Given the description of an element on the screen output the (x, y) to click on. 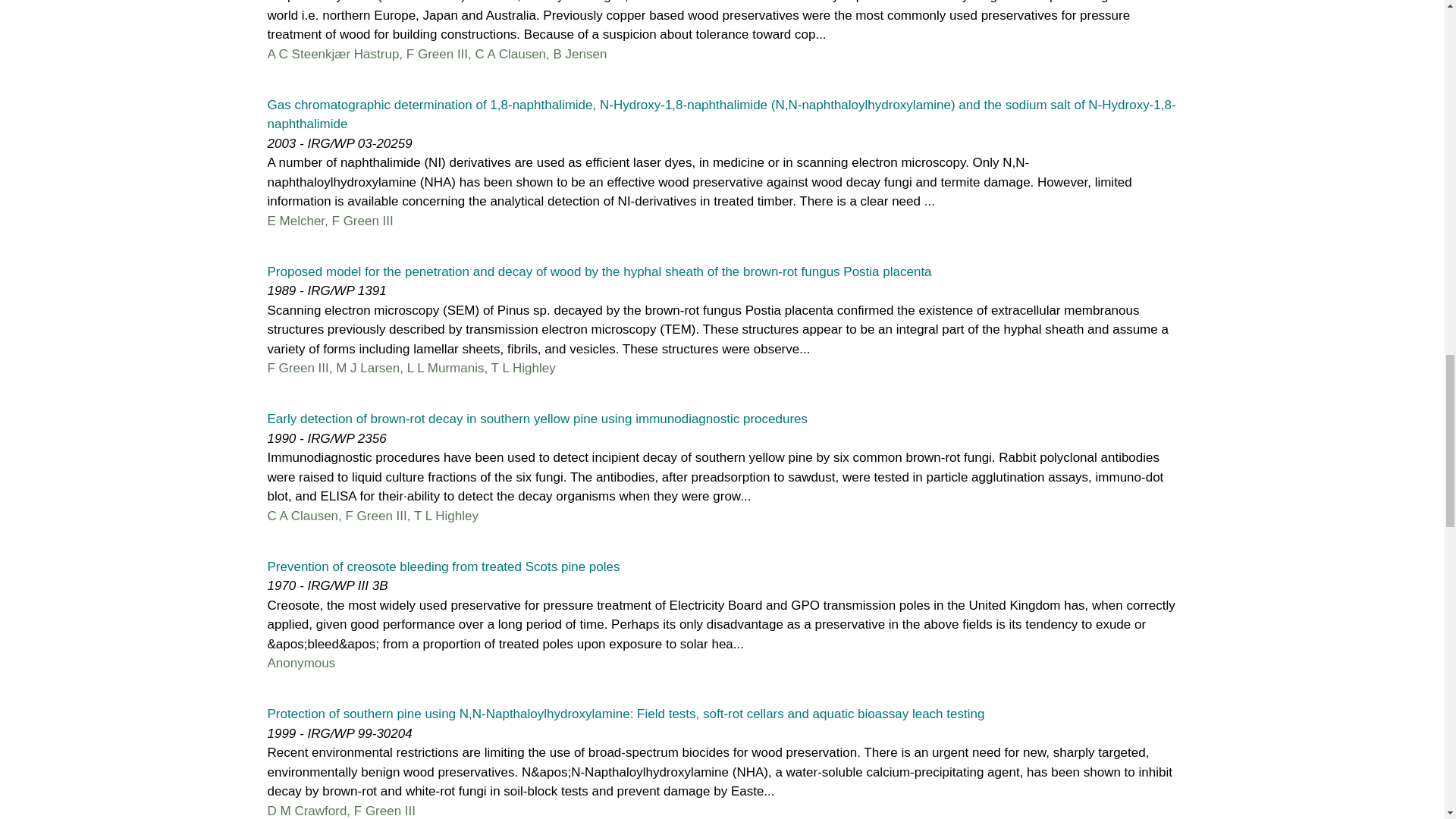
Click for more information about document. (625, 713)
Click for more information about document. (720, 114)
Click for more information about document. (537, 418)
Click for more information about document. (443, 566)
Click for more information about document. (598, 270)
